Given the description of an element on the screen output the (x, y) to click on. 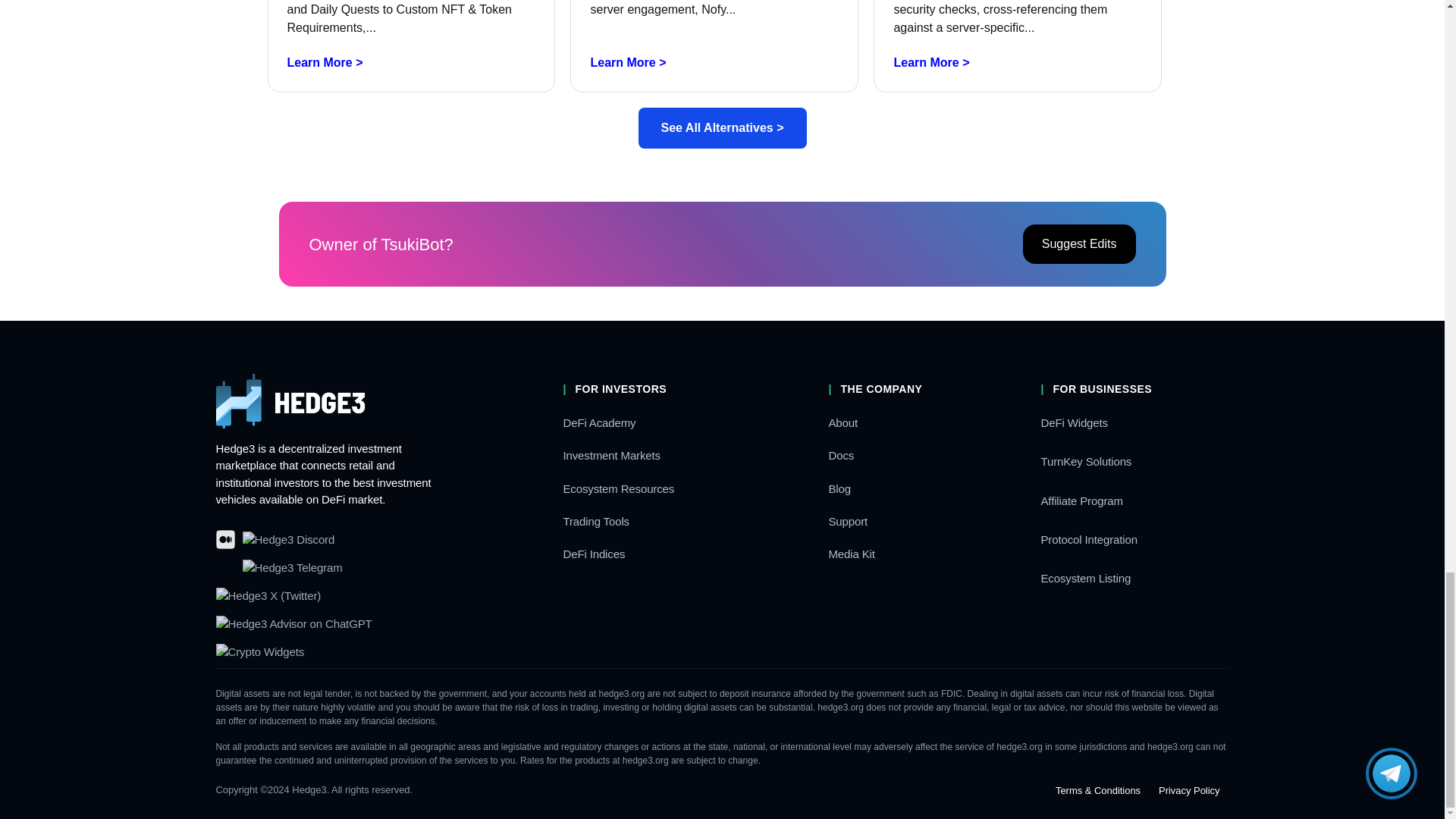
Investment Markets (610, 454)
Trading Tools (595, 521)
Ecosystem Resources (618, 488)
Suggest Edits (1079, 243)
DeFi Indices (593, 553)
crypto widgets (259, 651)
DeFi Academy (598, 422)
